Given the description of an element on the screen output the (x, y) to click on. 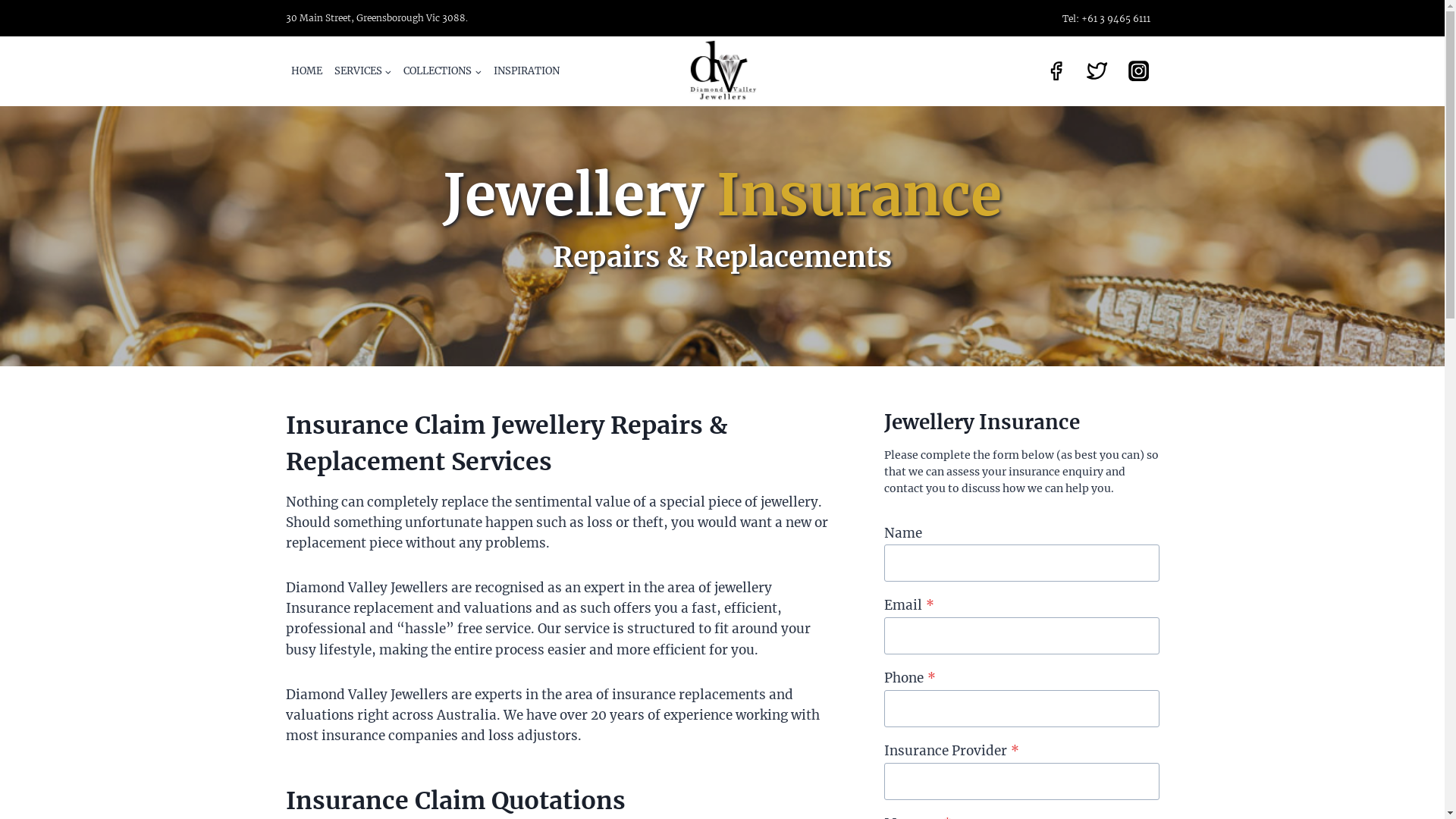
HOME Element type: text (306, 70)
SERVICES Element type: text (363, 70)
Tel: +61 3 9465 6111 Element type: text (1105, 18)
INSPIRATION Element type: text (526, 70)
COLLECTIONS Element type: text (443, 70)
